Given the description of an element on the screen output the (x, y) to click on. 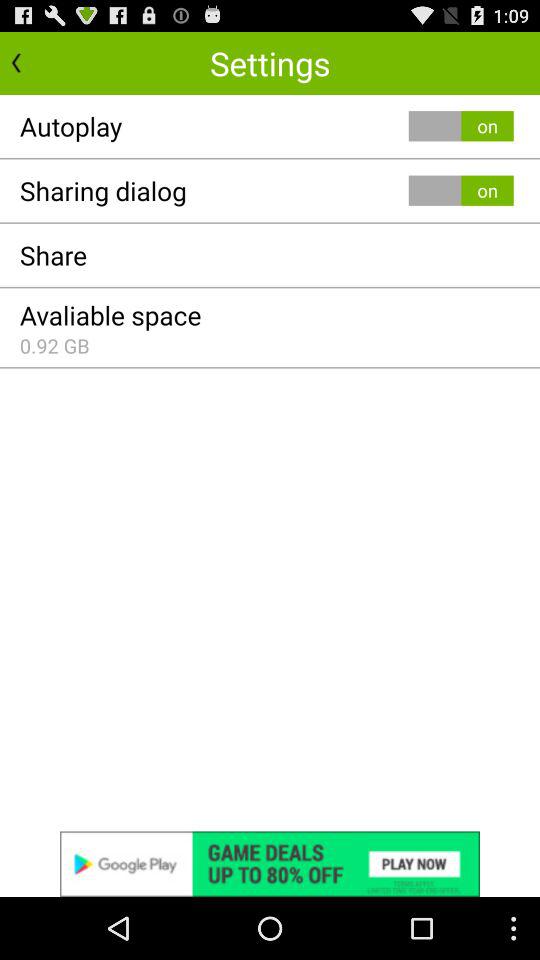
view advertisement (270, 864)
